Given the description of an element on the screen output the (x, y) to click on. 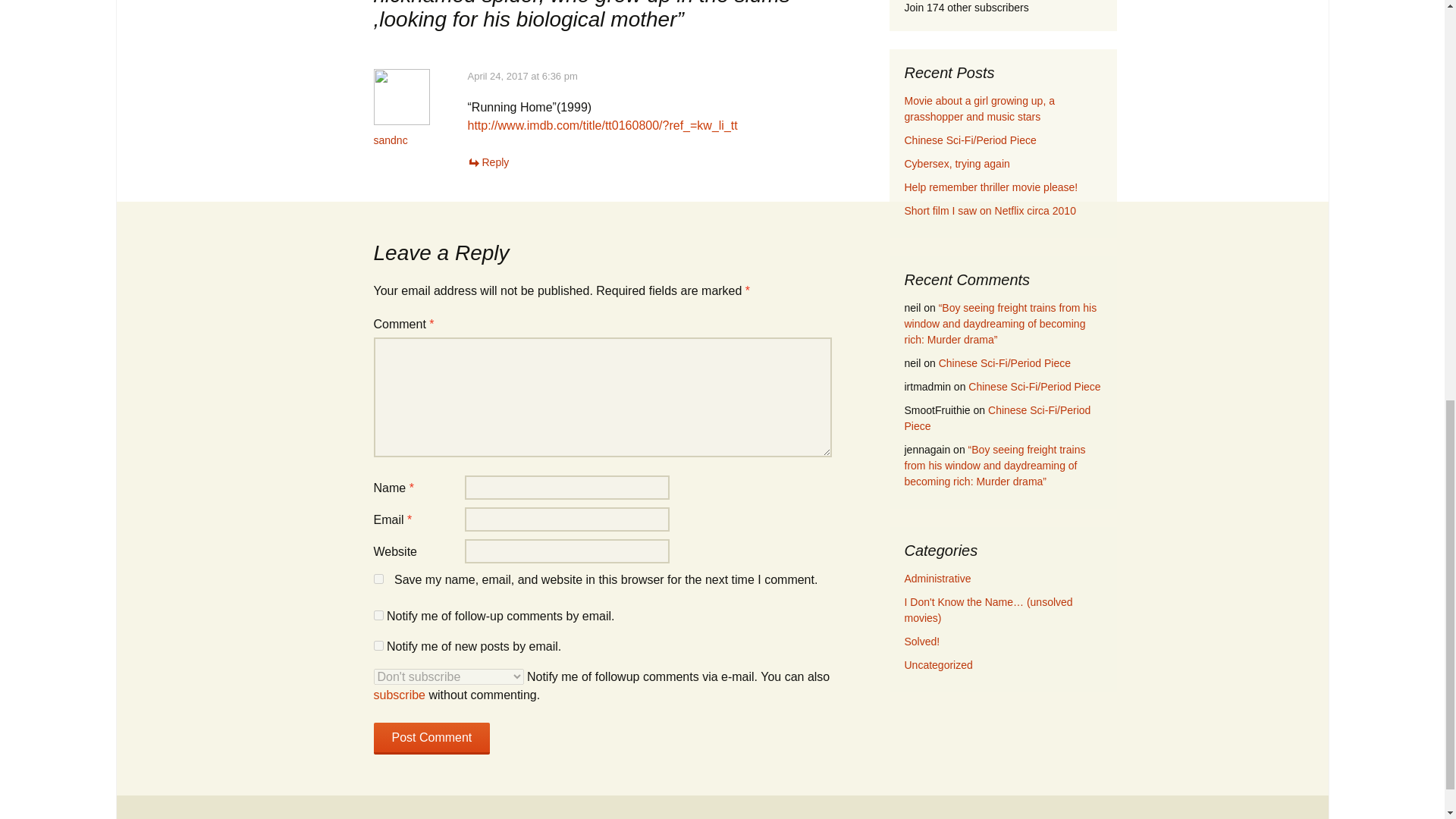
Solved! (921, 641)
Help remember thriller movie please! (990, 186)
Post Comment (430, 738)
subscribe (377, 614)
Reply (487, 162)
Administrative (937, 578)
Short film I saw on Netflix circa 2010 (989, 210)
subscribe (398, 694)
Cybersex, trying again (956, 163)
yes (377, 578)
subscribe (377, 645)
April 24, 2017 at 6:36 pm (521, 75)
Movie about a girl growing up, a grasshopper and music stars (979, 108)
Post Comment (430, 738)
Uncategorized (938, 664)
